Given the description of an element on the screen output the (x, y) to click on. 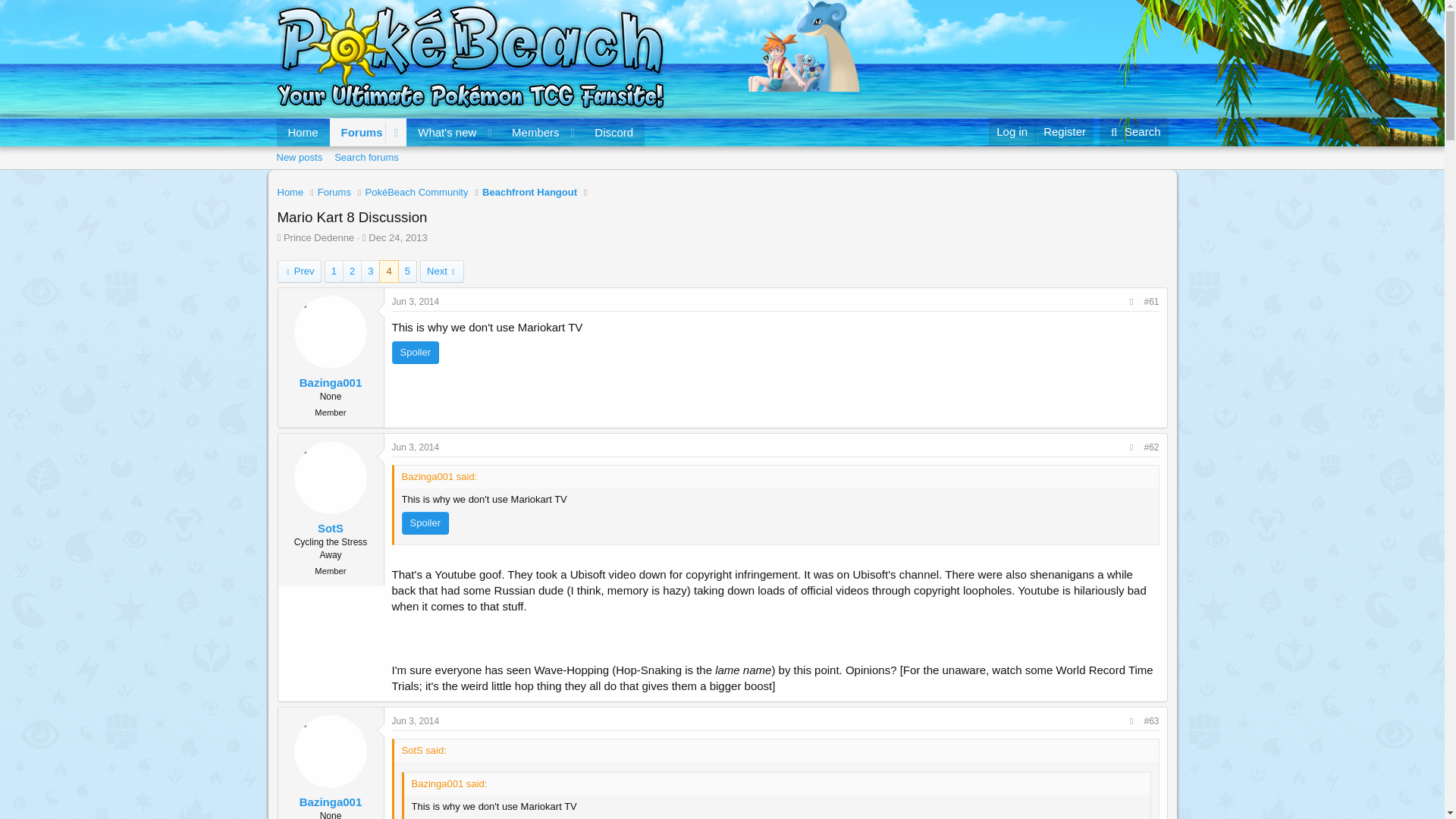
Dec 24, 2013 at 10:00 AM (397, 237)
Members (721, 174)
Prince Dedenne (531, 131)
Home (318, 237)
Jun 3, 2014 at 3:15 PM (291, 192)
Prev (459, 148)
Log in (415, 447)
Discord (299, 271)
Search (1011, 131)
Search (459, 131)
Forums (614, 131)
New posts (1134, 131)
